Given the description of an element on the screen output the (x, y) to click on. 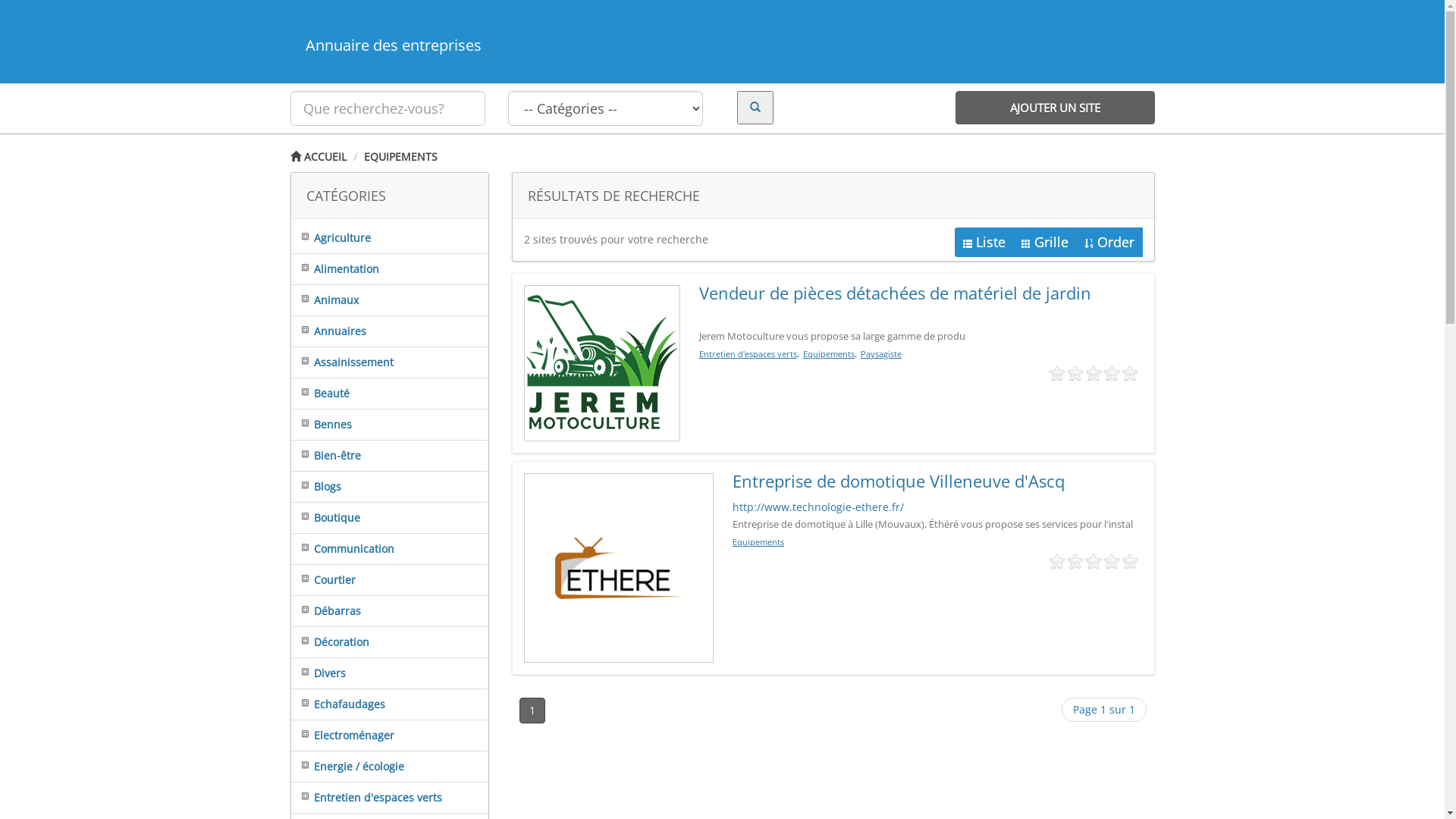
AJOUTER UN SITE Element type: text (1055, 107)
1 Element type: text (532, 710)
Bennes Element type: text (321, 424)
gorgeous Element type: hover (1129, 373)
Liste Element type: text (983, 242)
Agriculture Element type: text (330, 237)
Equipements Element type: text (828, 353)
bad Element type: hover (1057, 373)
Order Element type: text (1108, 242)
regular Element type: hover (1093, 373)
Page 1 sur 1 Element type: text (1103, 709)
bad Element type: hover (1057, 561)
Alimentation Element type: text (335, 268)
http://www.technologie-ethere.fr/ Element type: text (817, 506)
good Element type: hover (1111, 561)
gorgeous Element type: hover (1129, 561)
Animaux Element type: text (324, 299)
Divers Element type: text (318, 672)
Entretien d'espaces verts Element type: text (748, 353)
Equipements Element type: text (758, 541)
poor Element type: hover (1075, 561)
Assainissement Element type: text (342, 361)
poor Element type: hover (1075, 373)
ACCUEIL Element type: text (317, 156)
Grille Element type: text (1044, 242)
Annuaires Element type: text (328, 330)
Entretien d'espaces verts Element type: text (366, 797)
Annuaire des entreprises Element type: text (721, 45)
good Element type: hover (1111, 373)
Courtier Element type: text (323, 579)
Blogs Element type: text (316, 486)
Paysagiste Element type: text (880, 353)
Boutique Element type: text (325, 517)
EQUIPEMENTS Element type: text (400, 156)
regular Element type: hover (1093, 561)
Communication Element type: text (342, 548)
Entreprise de domotique Villeneuve d'Ascq Element type: text (898, 480)
Echafaudages Element type: text (338, 703)
